Given the description of an element on the screen output the (x, y) to click on. 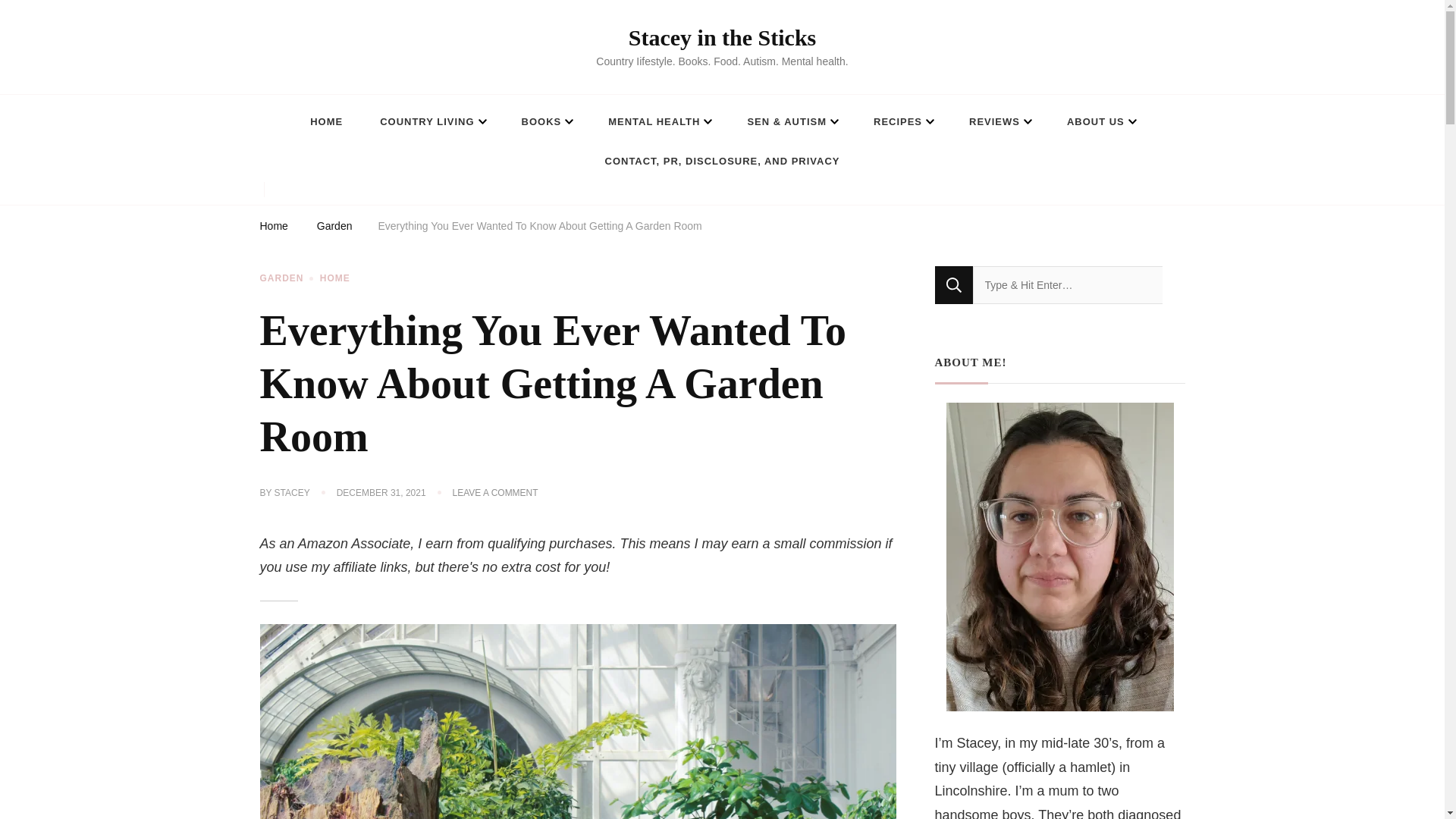
Search (953, 284)
RECIPES (903, 121)
BOOKS (546, 121)
Garden (334, 228)
MENTAL HEALTH (658, 121)
REVIEWS (999, 121)
Stacey in the Sticks (722, 37)
CONTACT, PR, DISCLOSURE, AND PRIVACY (722, 161)
HOME (326, 121)
Search (953, 284)
